Given the description of an element on the screen output the (x, y) to click on. 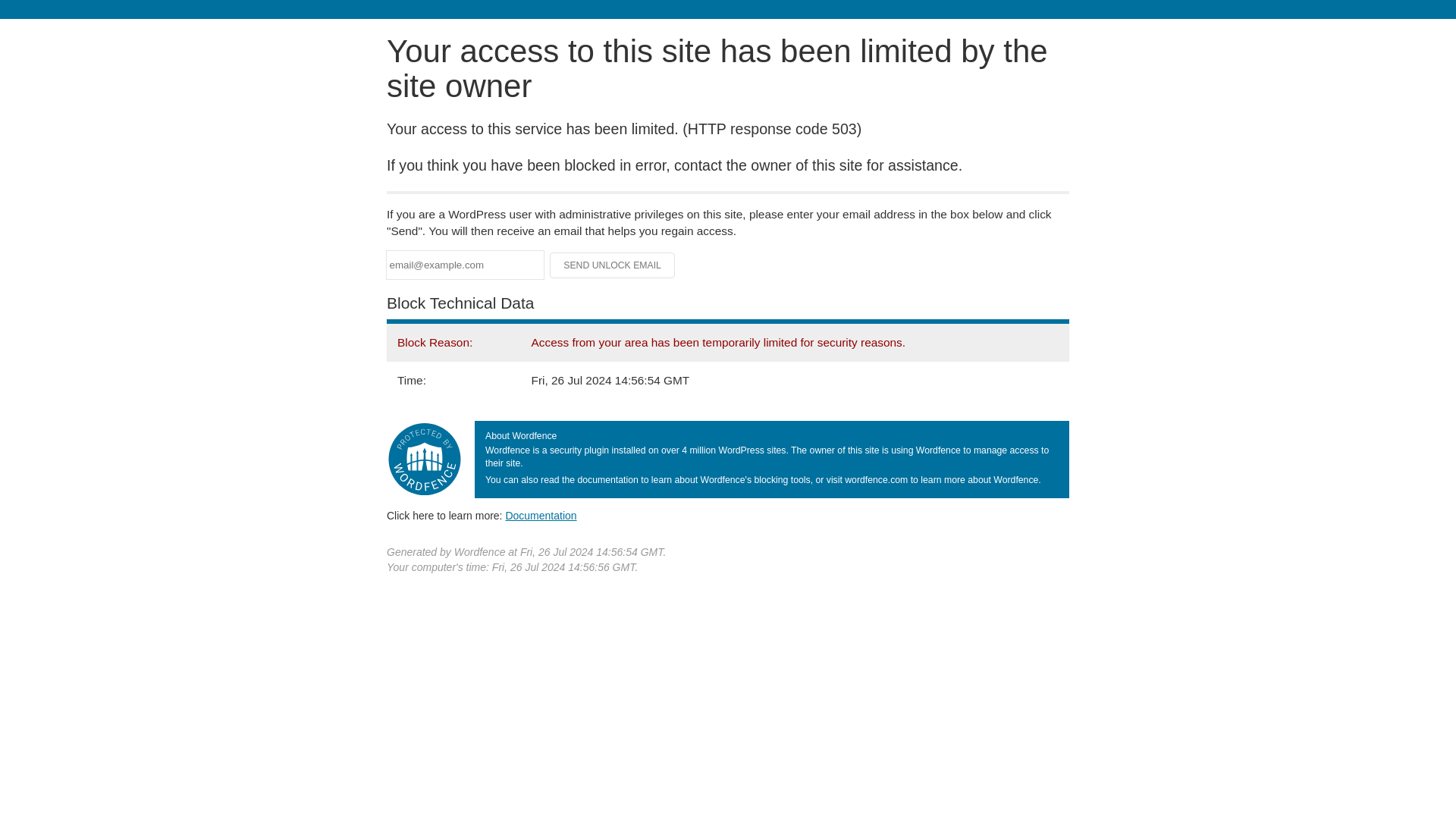
Send Unlock Email (612, 265)
Send Unlock Email (612, 265)
Documentation (540, 515)
